Given the description of an element on the screen output the (x, y) to click on. 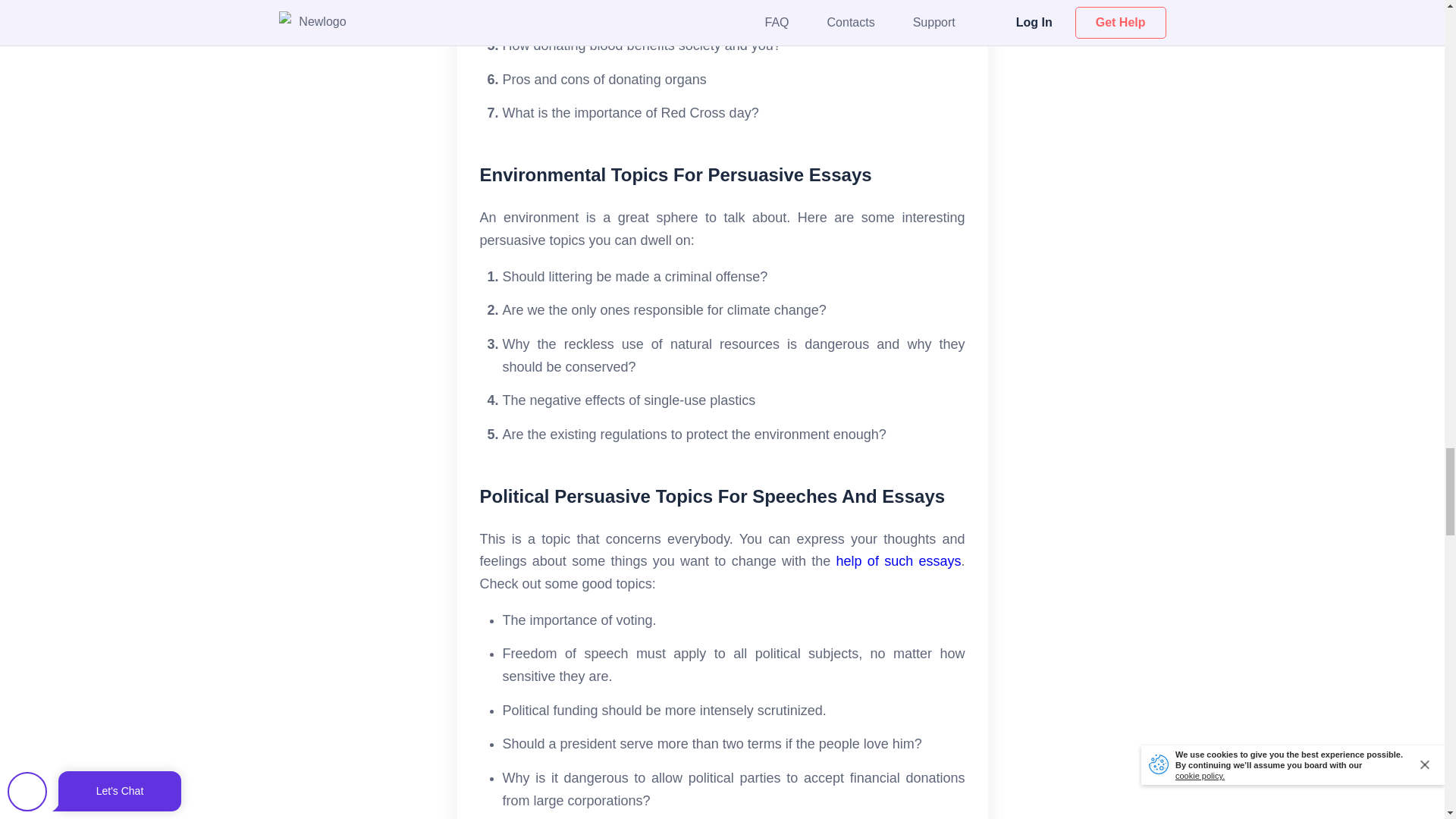
help of such essays (897, 560)
